Given the description of an element on the screen output the (x, y) to click on. 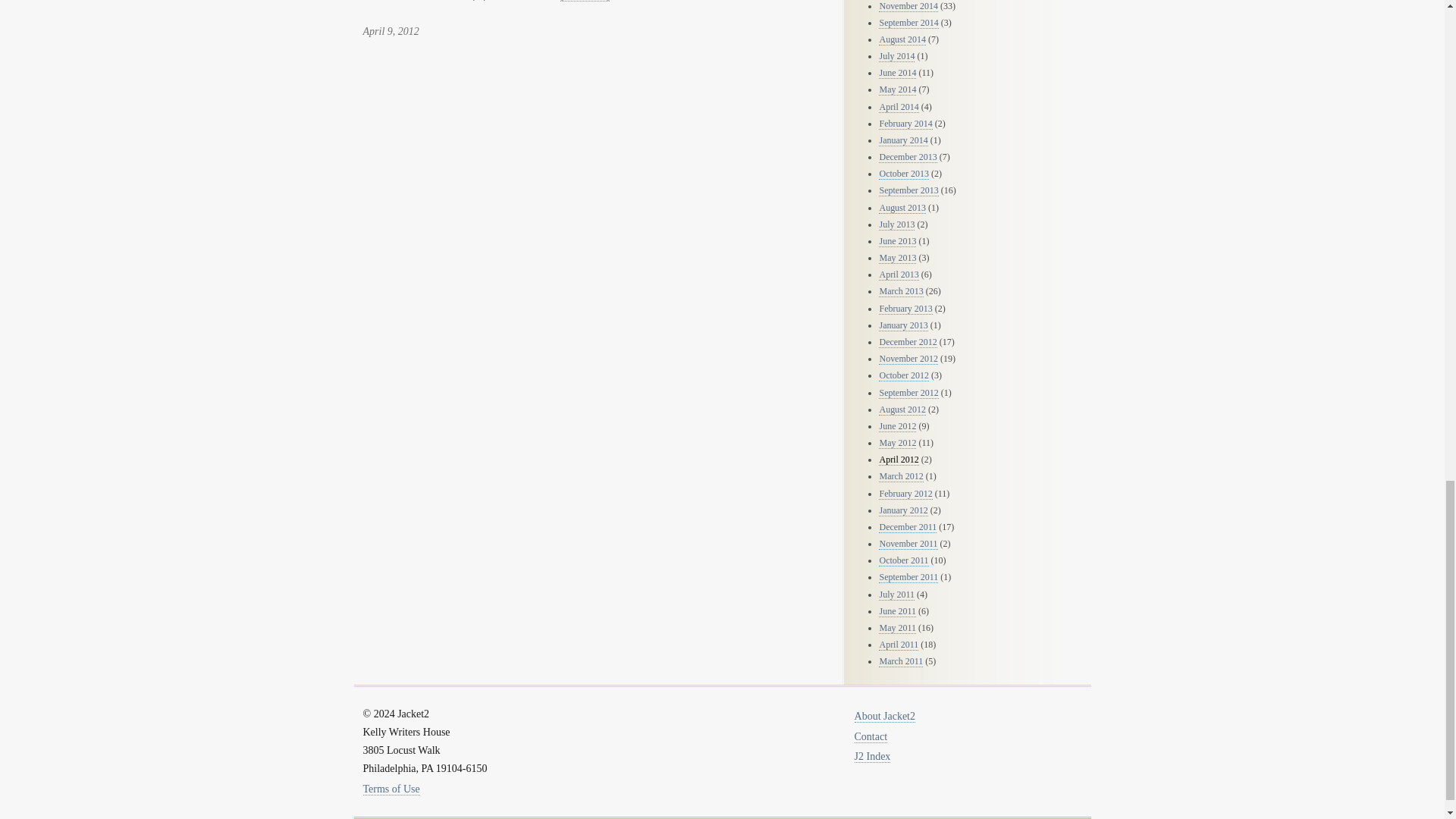
Contact (871, 736)
read more (585, 0)
About us (884, 716)
Index of Jacket 2 Content (872, 756)
Read the rest of Never without. (585, 0)
Terms of Use (390, 788)
